Given the description of an element on the screen output the (x, y) to click on. 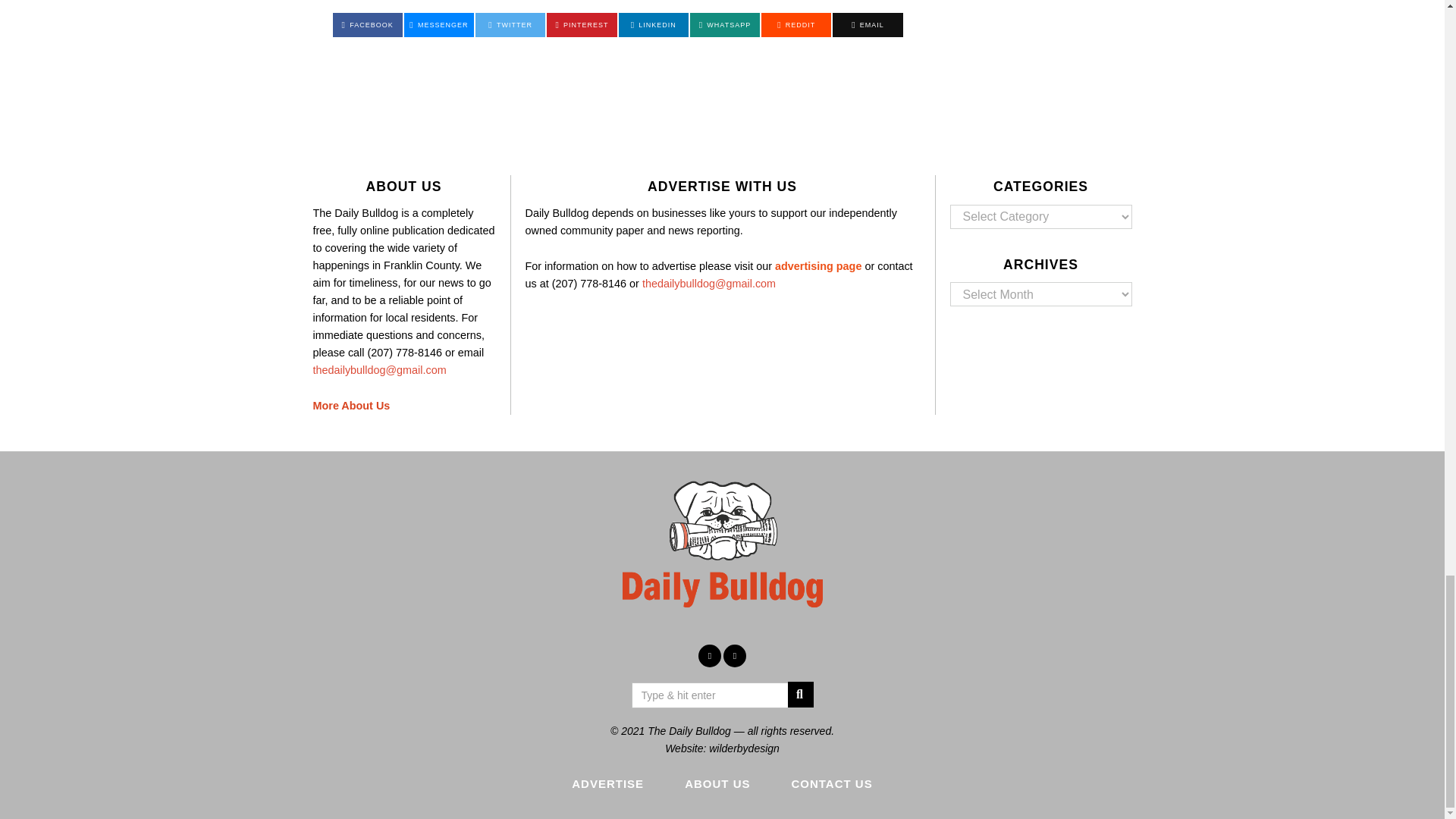
Facebook (366, 24)
Whatsapp (725, 24)
Email (867, 24)
Linkedin (653, 24)
Facebook (709, 655)
Messenger (439, 24)
Twitter (510, 24)
Reddit (796, 24)
Pinterest (581, 24)
